Given the description of an element on the screen output the (x, y) to click on. 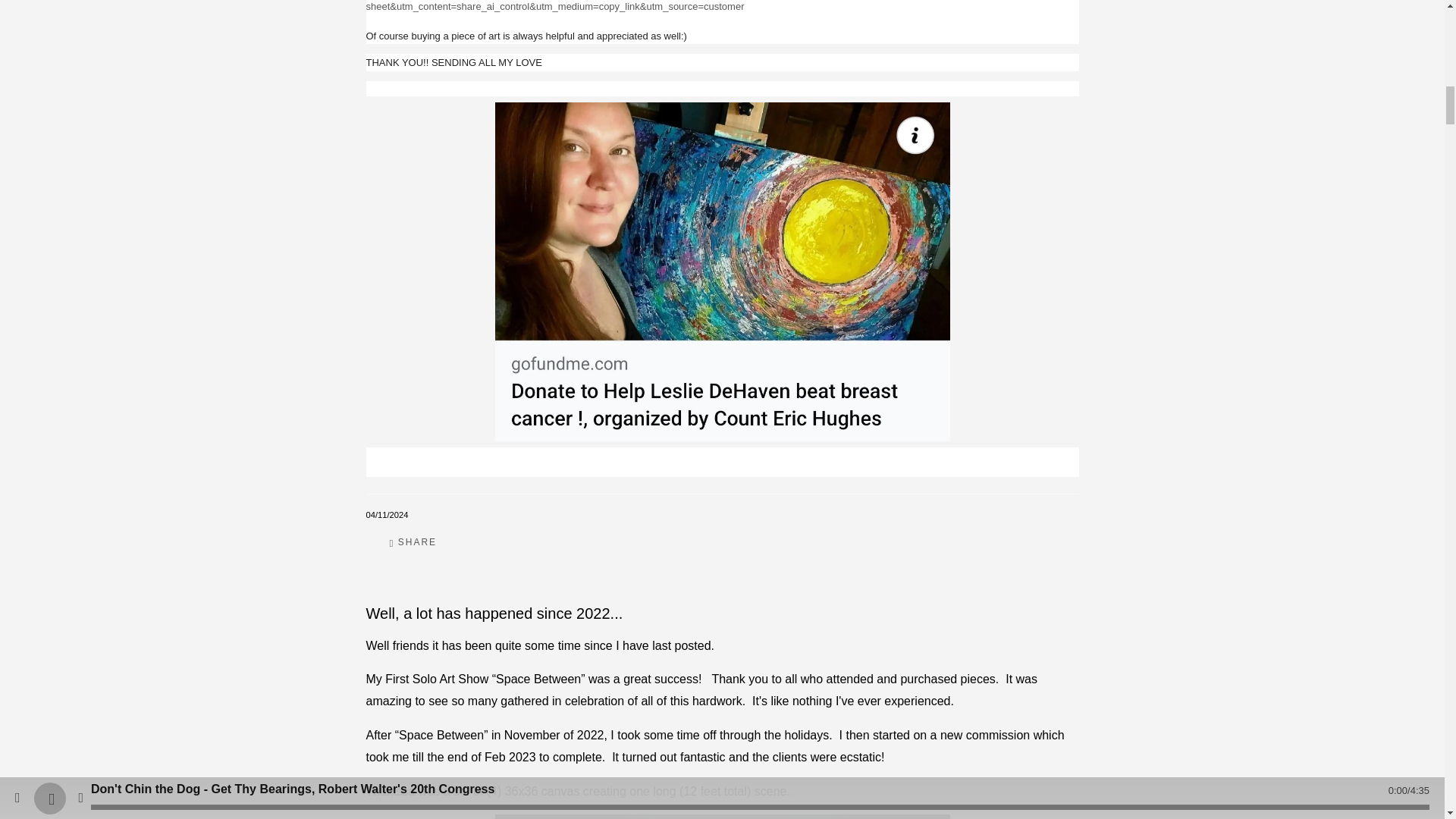
Well, a lot has happened since 2022... (494, 613)
April 11, 2024 12:17 (386, 514)
SHARE (413, 542)
Share Please help Leslie battle Breast Cancer (413, 542)
